Given the description of an element on the screen output the (x, y) to click on. 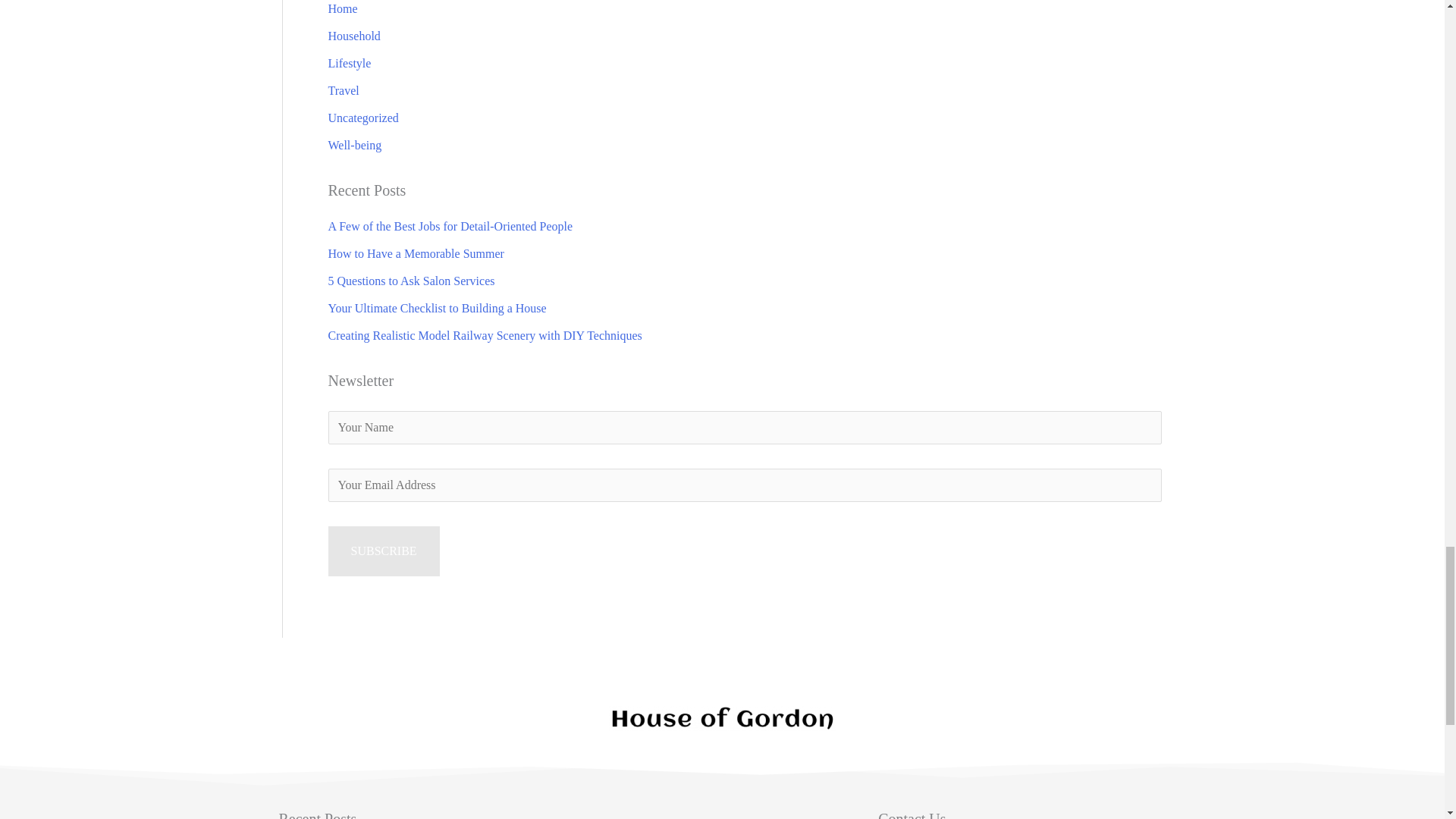
SUBSCRIBE (383, 551)
5 Questions to Ask Salon Services (411, 280)
Household (353, 35)
How to Have a Memorable Summer (415, 253)
Well-being (354, 144)
Your Ultimate Checklist to Building a House (436, 308)
Lifestyle (349, 62)
Home (341, 8)
Uncategorized (362, 117)
A Few of the Best Jobs for Detail-Oriented People (449, 226)
Travel (342, 90)
